Given the description of an element on the screen output the (x, y) to click on. 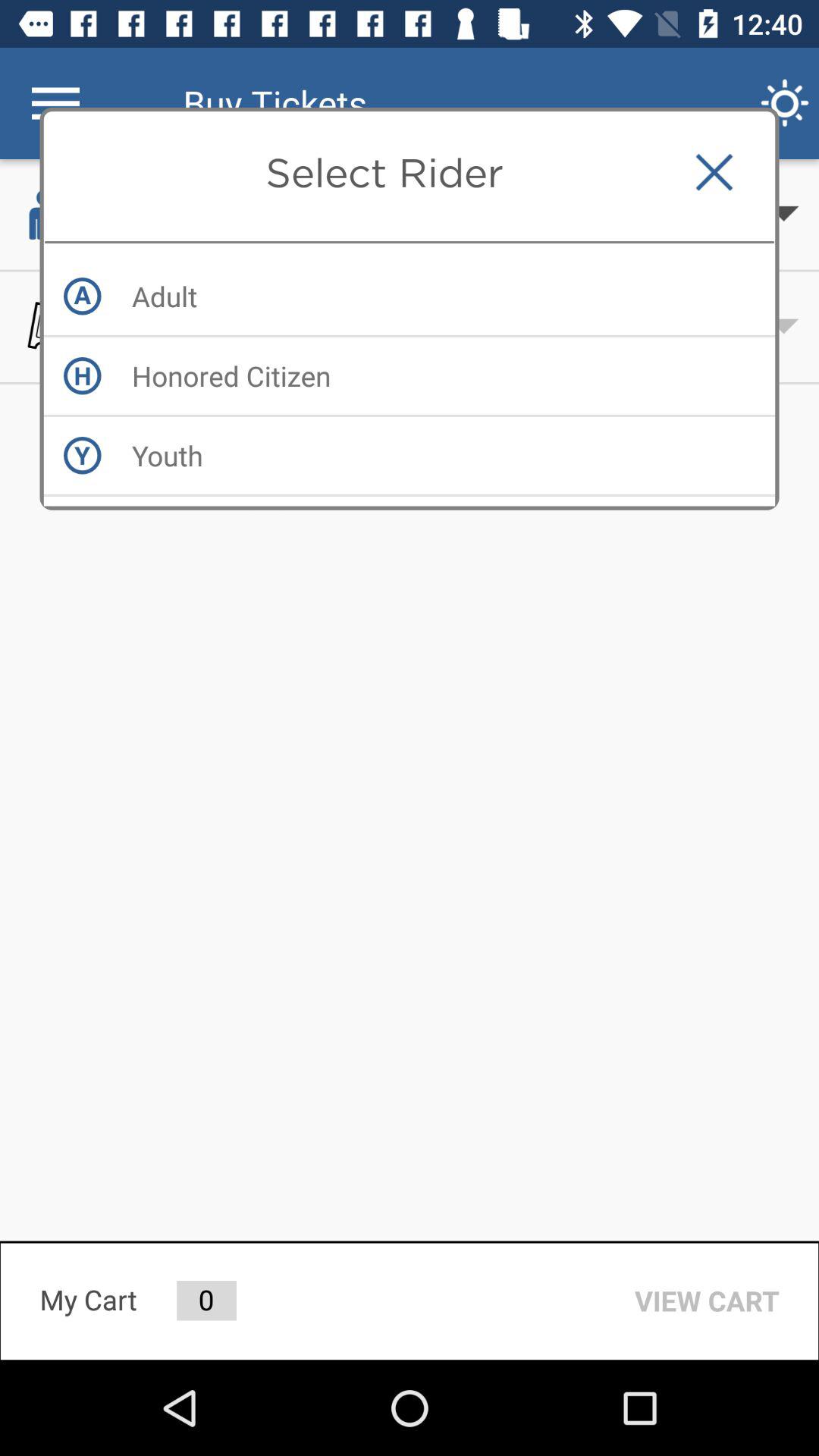
scroll until select rider (384, 172)
